Given the description of an element on the screen output the (x, y) to click on. 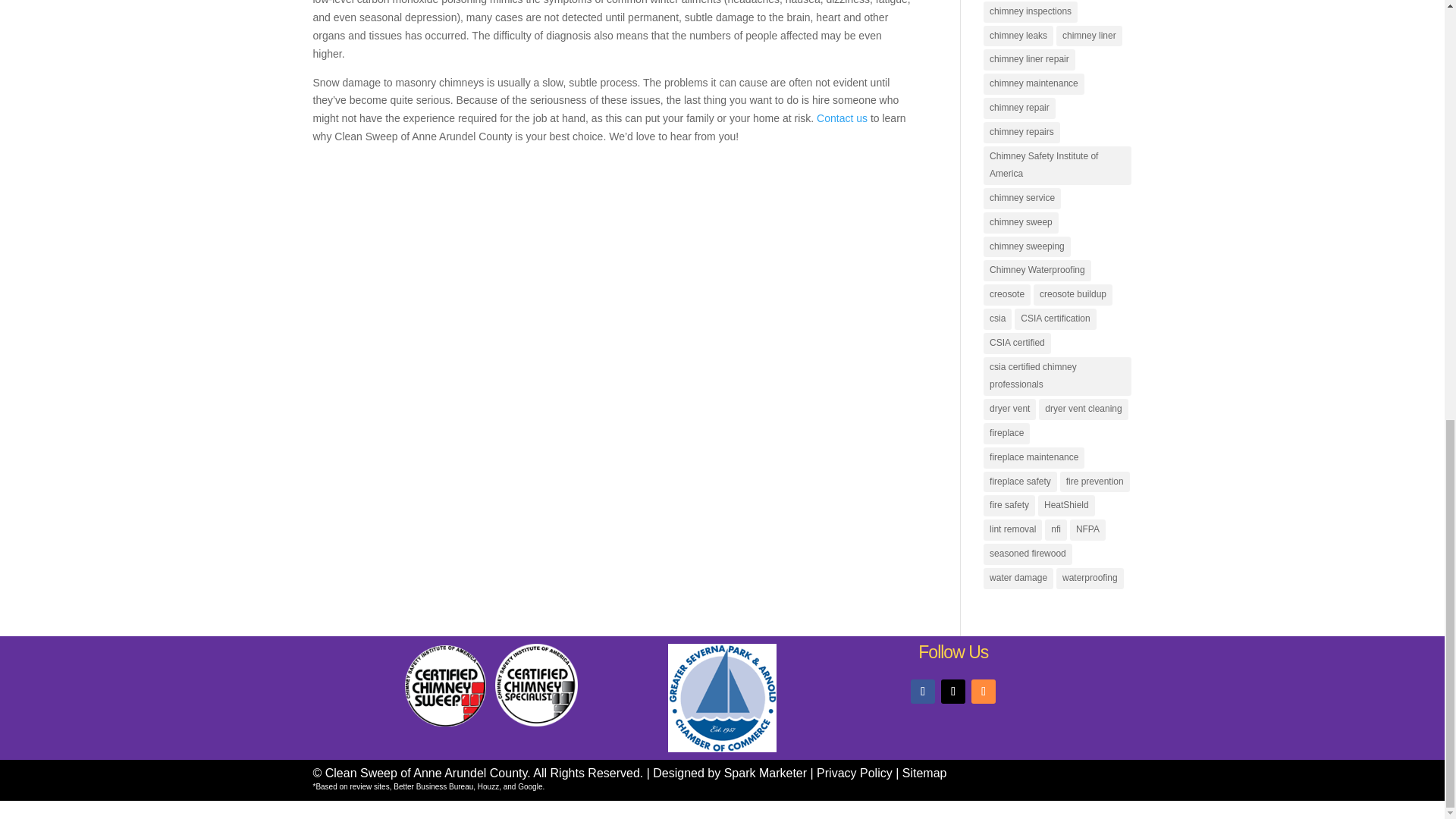
The systems and people to help local service businesses win. (764, 772)
CSIA (445, 722)
Follow on Facebook (922, 691)
Follow on RSS (983, 691)
Certified Chimney Specialist (536, 722)
Greater Severna Park Arnold Chamber of Commerce (722, 697)
Follow on X (952, 691)
